Given the description of an element on the screen output the (x, y) to click on. 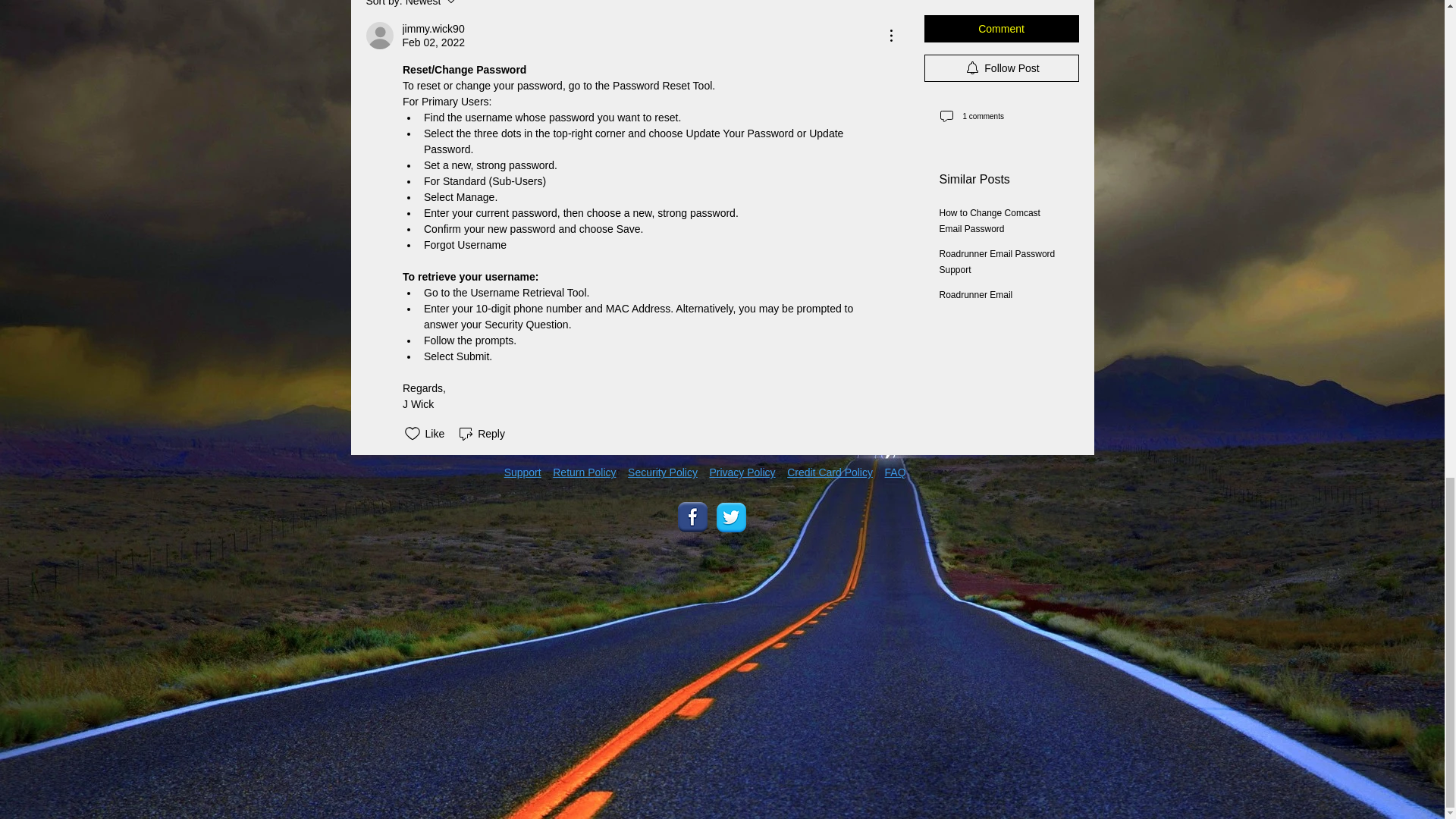
Reply (471, 4)
Support (481, 434)
TMBG Online Bass Guitar Lessons Twitter (522, 472)
Facebook Like (730, 517)
TMBG Online Bass Guitar Lessons Facebook (398, 494)
jimmy.wick90 (692, 517)
